Given the description of an element on the screen output the (x, y) to click on. 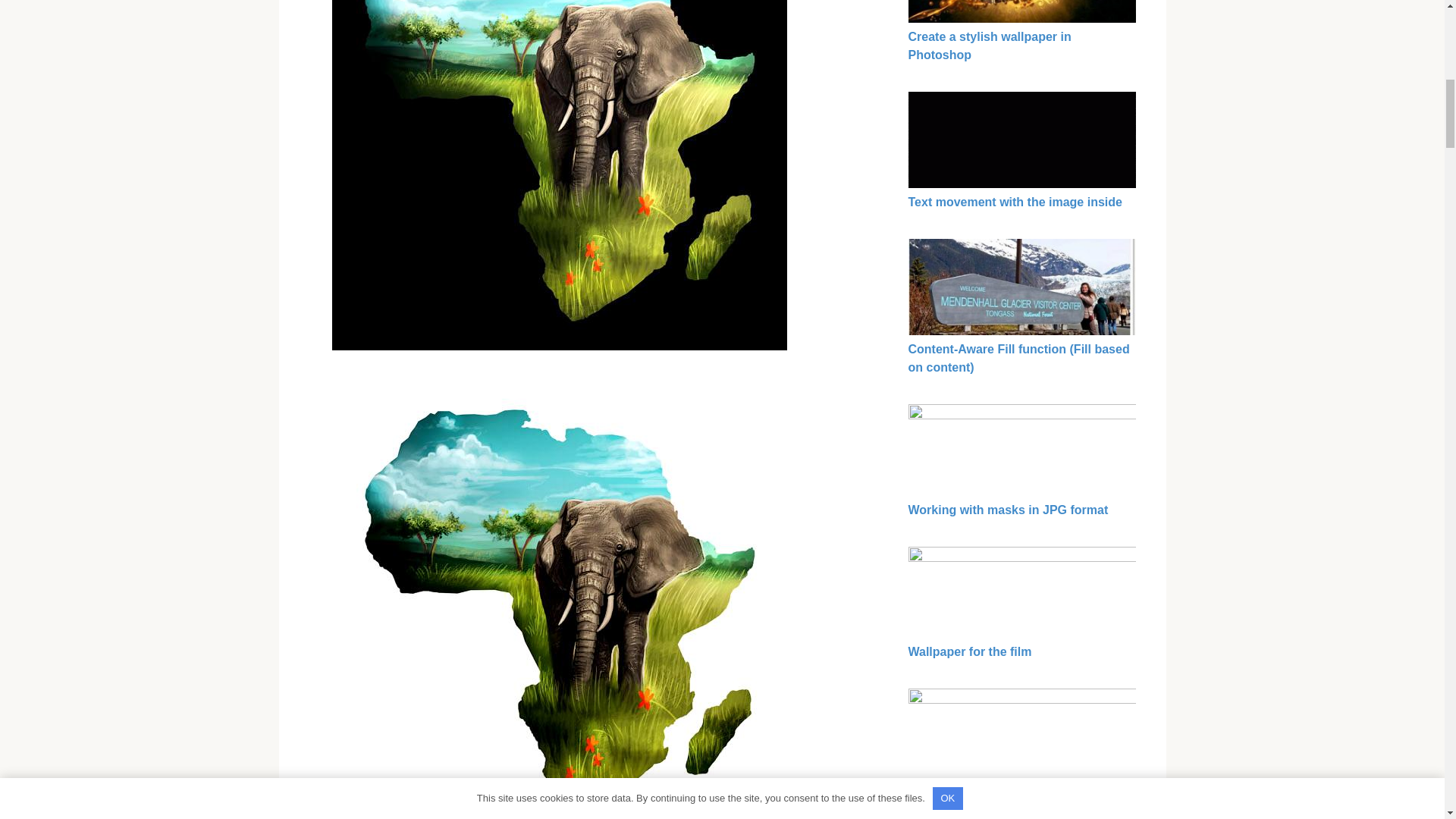
Text movement with the image inside (1015, 201)
Working with masks in JPG format (1008, 509)
Create a stylish wallpaper in Photoshop (989, 45)
